Given the description of an element on the screen output the (x, y) to click on. 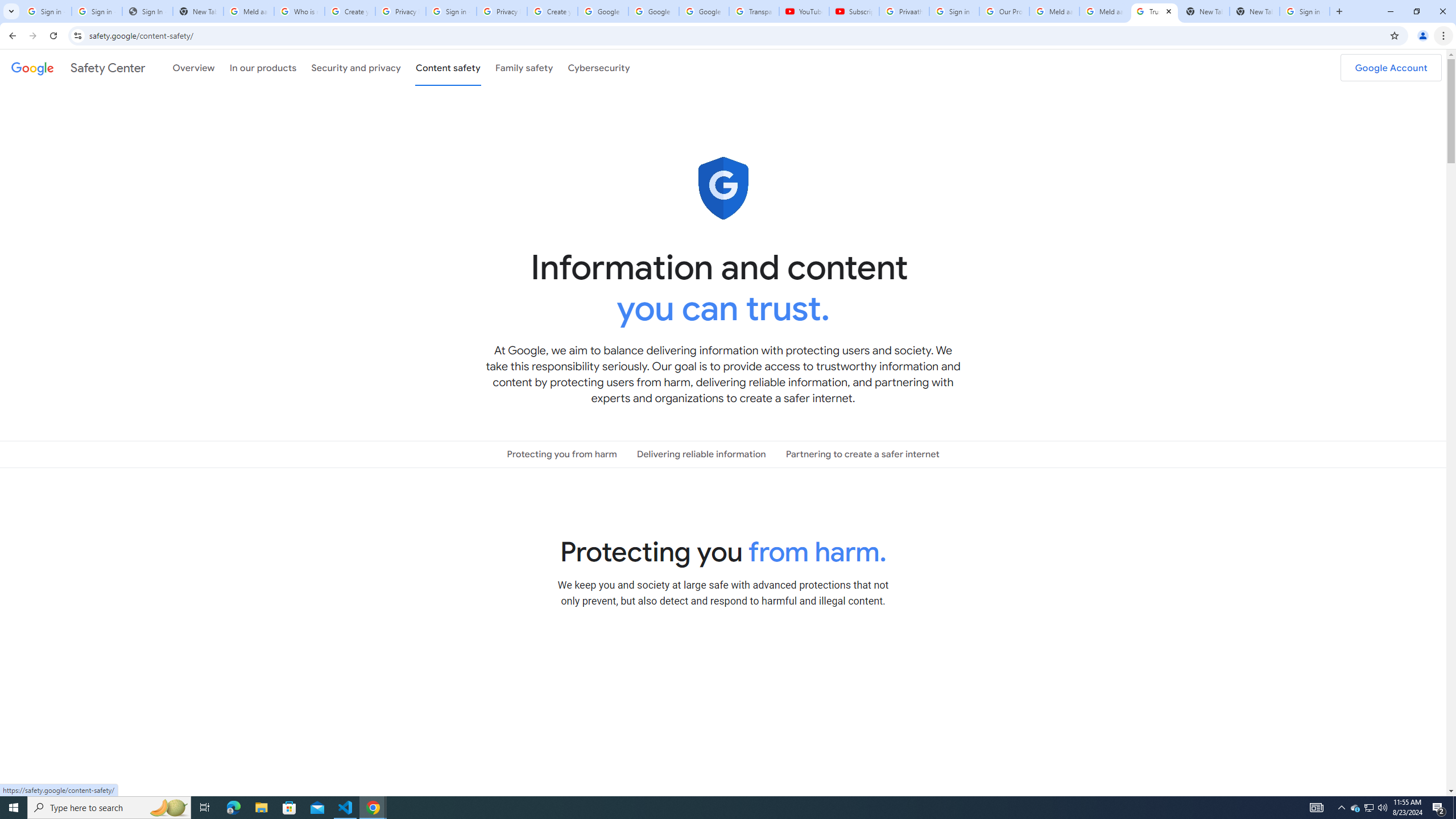
Security and privacy (356, 67)
Sign in - Google Accounts (954, 11)
In our products (262, 67)
Trusted Information and Content - Google Safety Center (1154, 11)
Cybersecurity (598, 67)
Sign in - Google Accounts (46, 11)
